Given the description of an element on the screen output the (x, y) to click on. 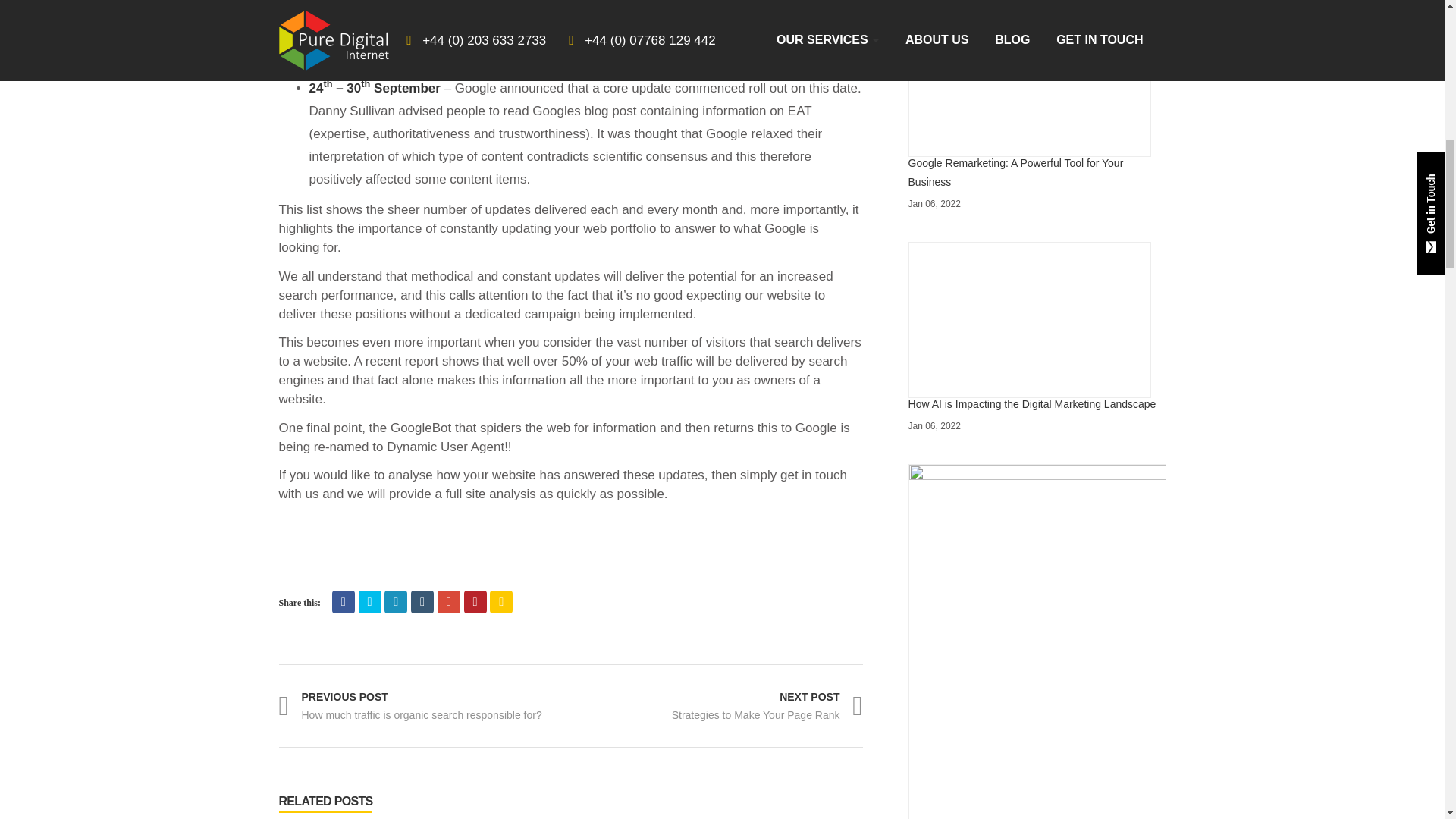
Share on Pinterest (475, 601)
Email to a Friend (500, 601)
Share on facebook (343, 601)
Share on Google plus (449, 601)
Share on LinkedIn (395, 601)
Share on Twitter (369, 601)
Share on Tumblr (421, 601)
